Given the description of an element on the screen output the (x, y) to click on. 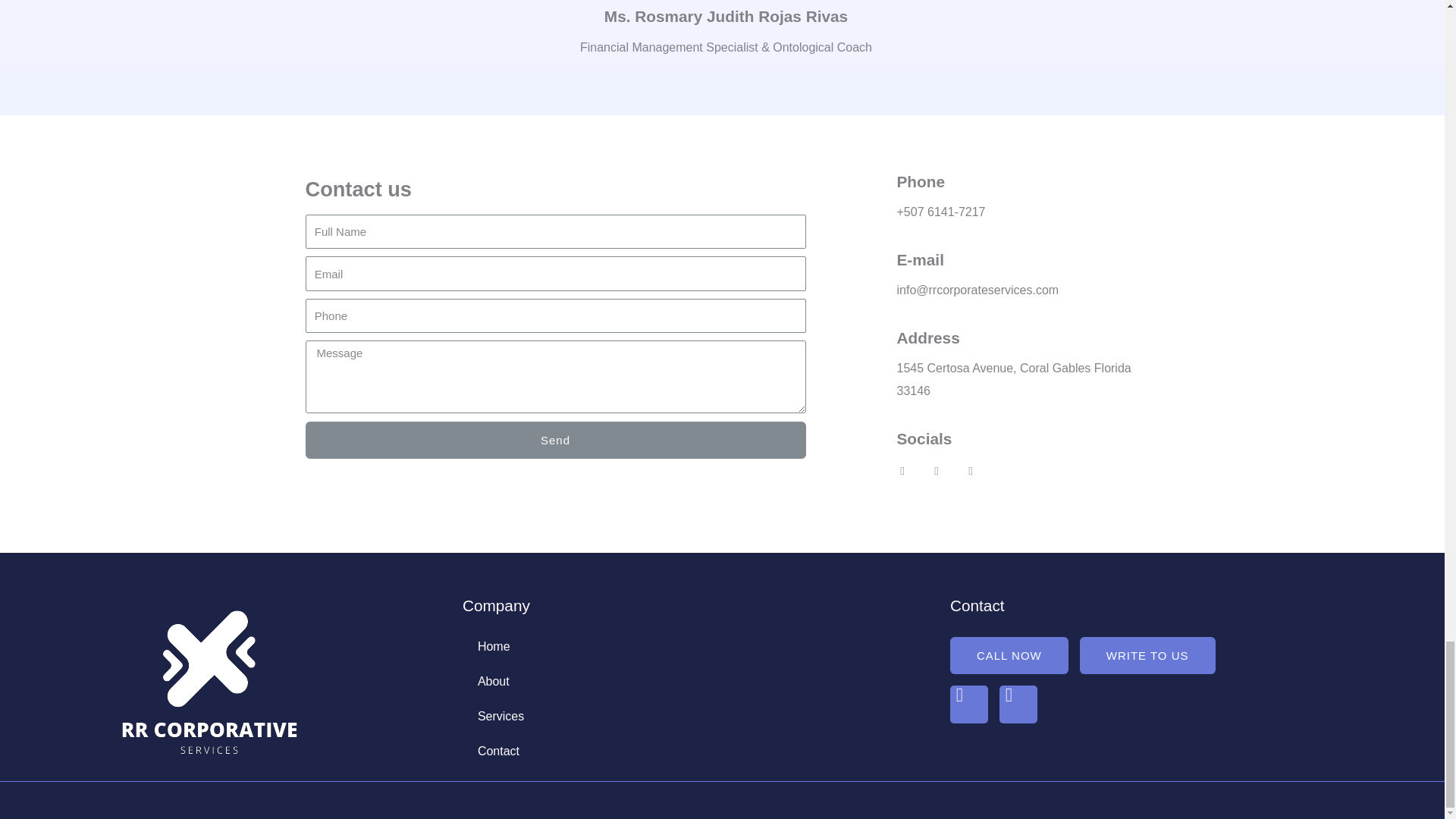
Services (694, 716)
WRITE TO US (1147, 655)
Home (694, 646)
Contact (694, 751)
Send (554, 439)
About (694, 681)
CALL NOW (1009, 655)
